Given the description of an element on the screen output the (x, y) to click on. 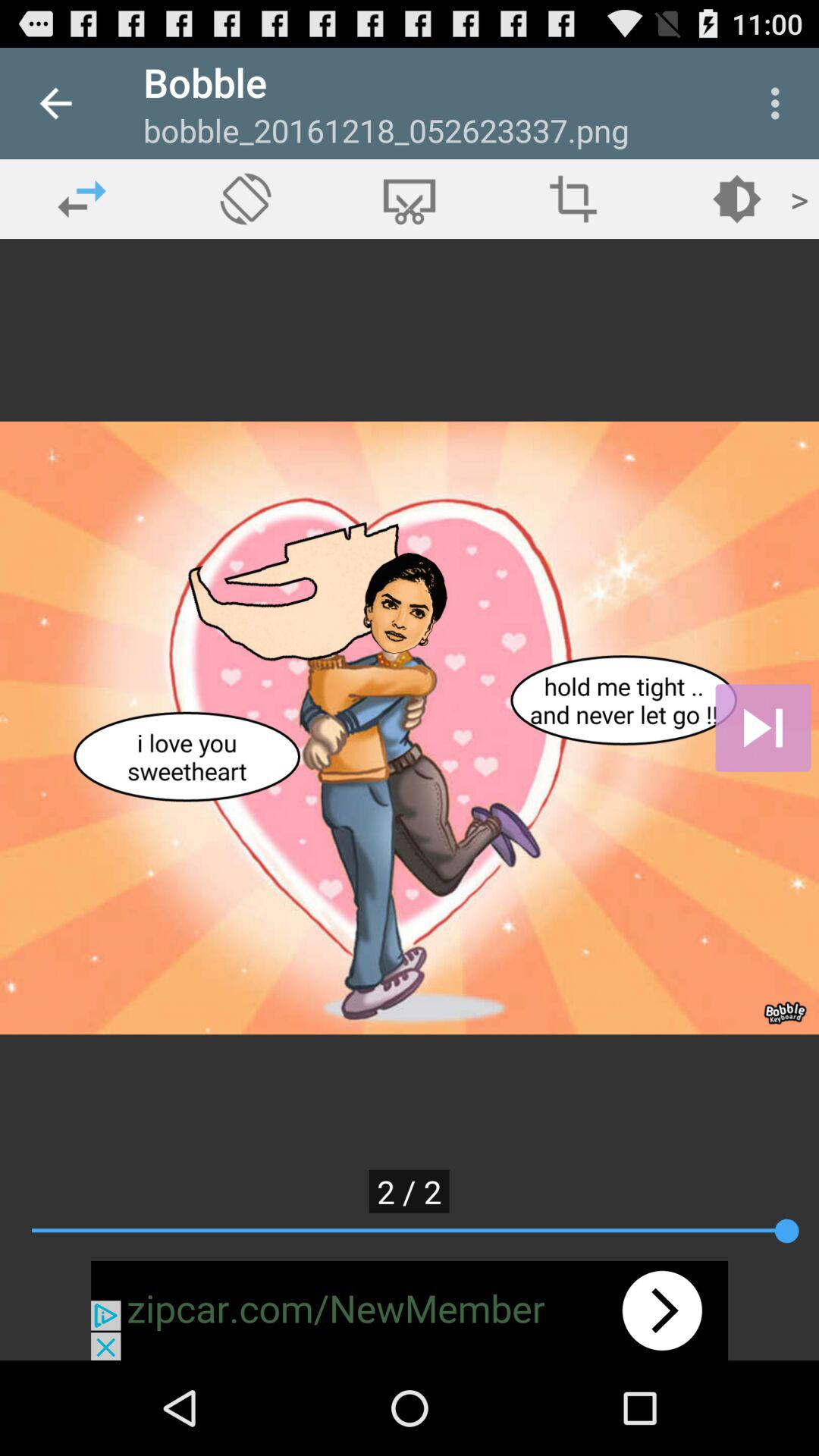
cut an area (409, 198)
